Given the description of an element on the screen output the (x, y) to click on. 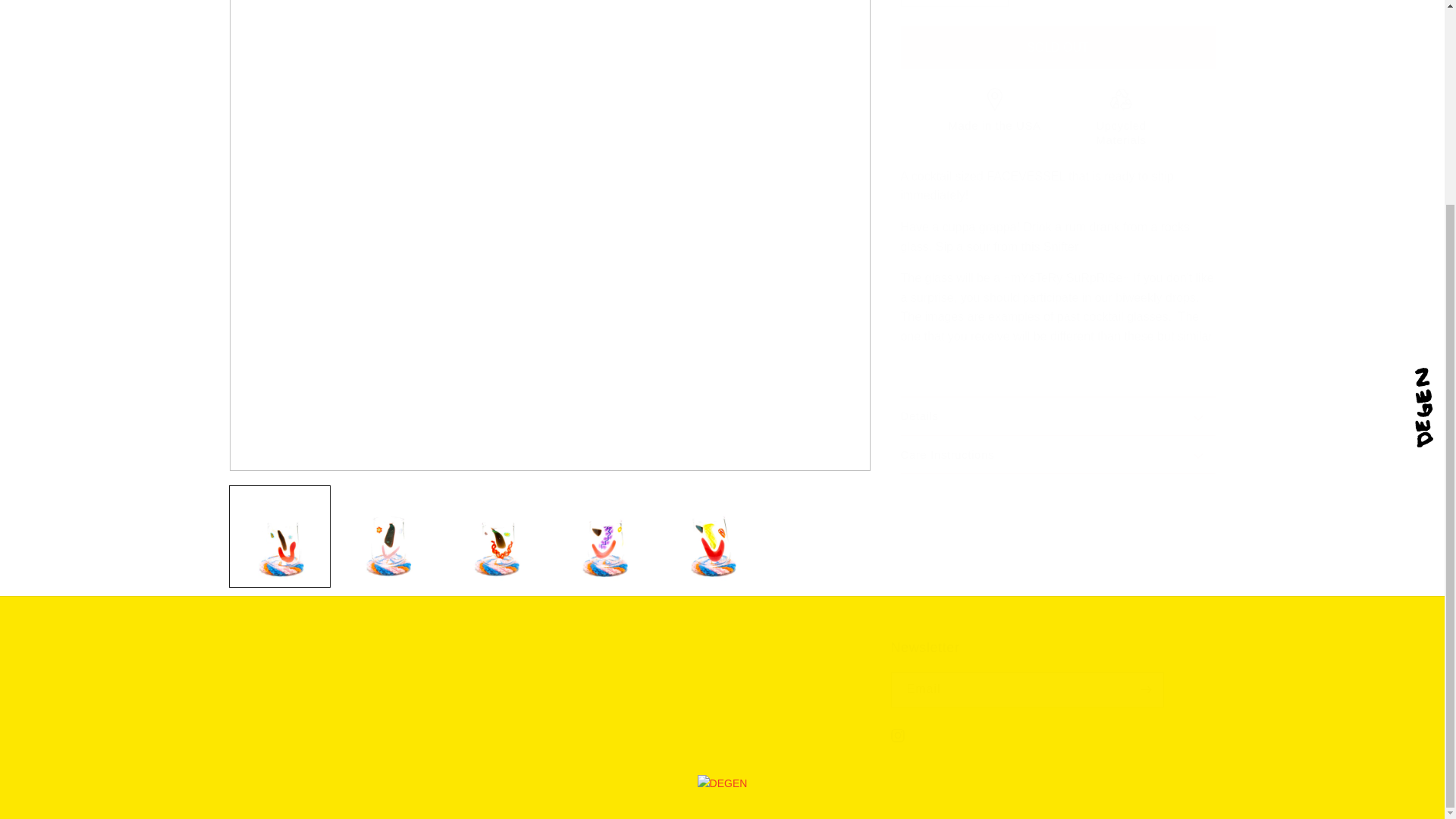
1 (955, 3)
SOLD OUT (1058, 46)
